Given the description of an element on the screen output the (x, y) to click on. 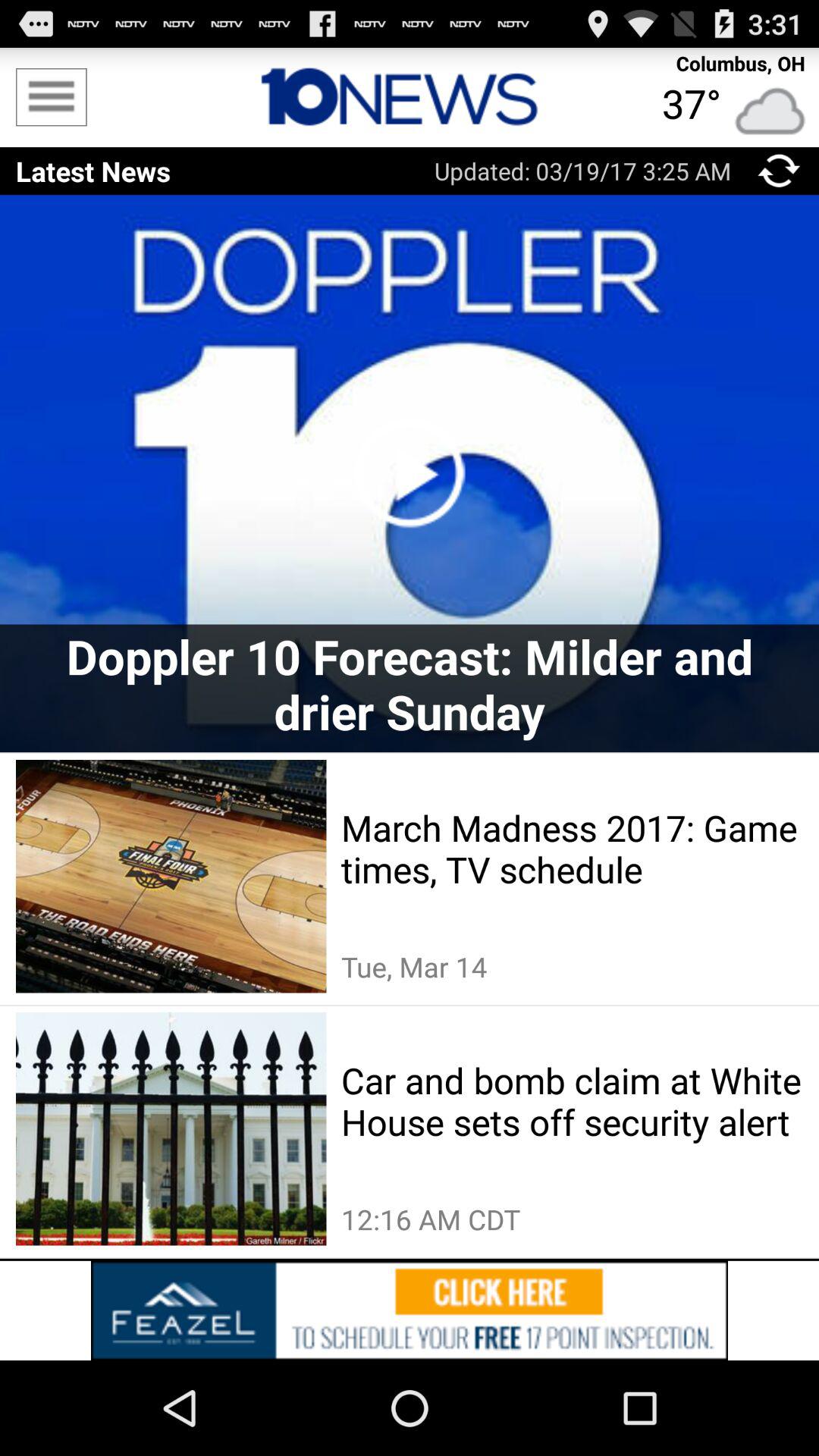
menu (51, 97)
